Given the description of an element on the screen output the (x, y) to click on. 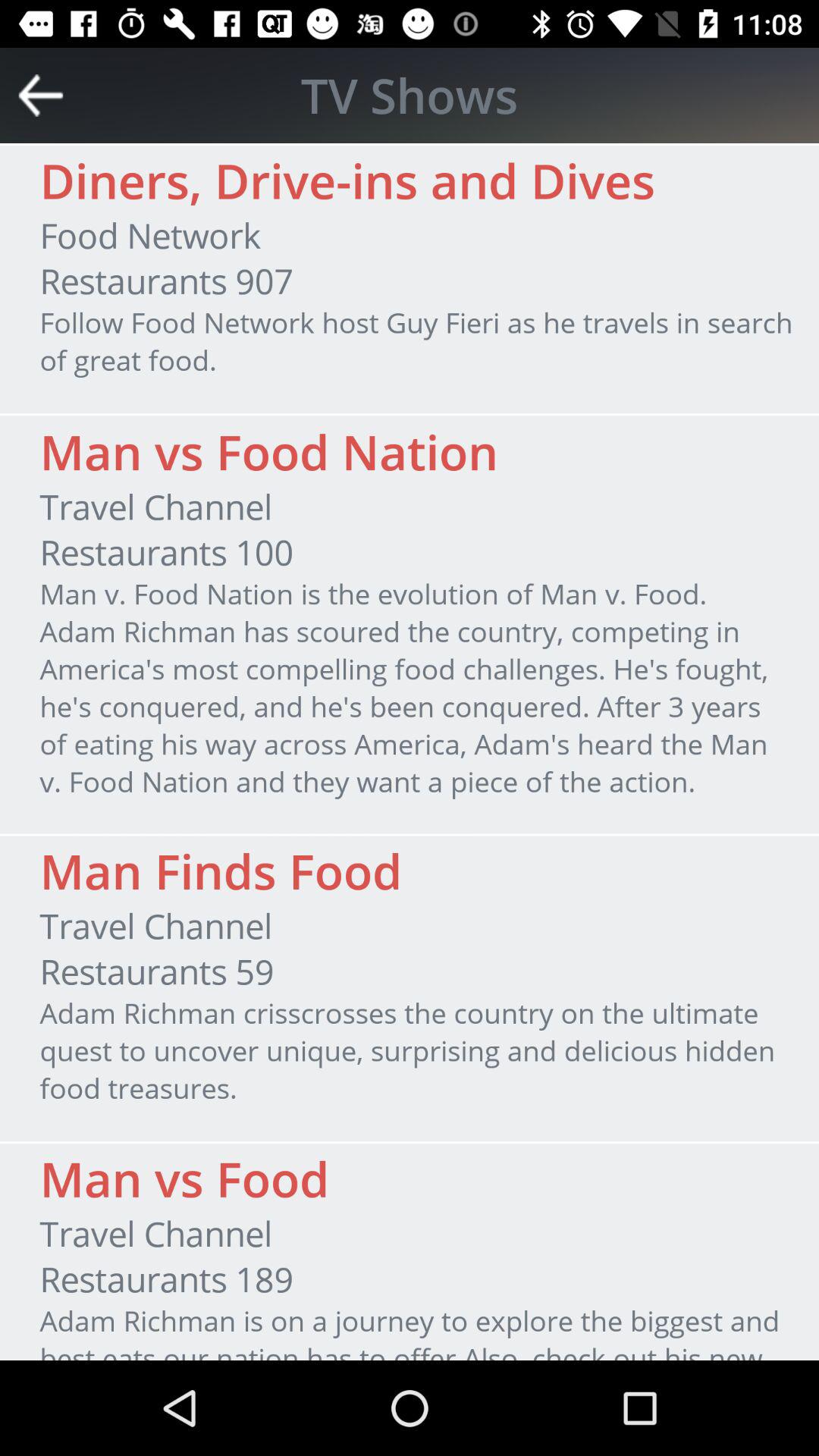
press the diners drive ins (347, 180)
